Given the description of an element on the screen output the (x, y) to click on. 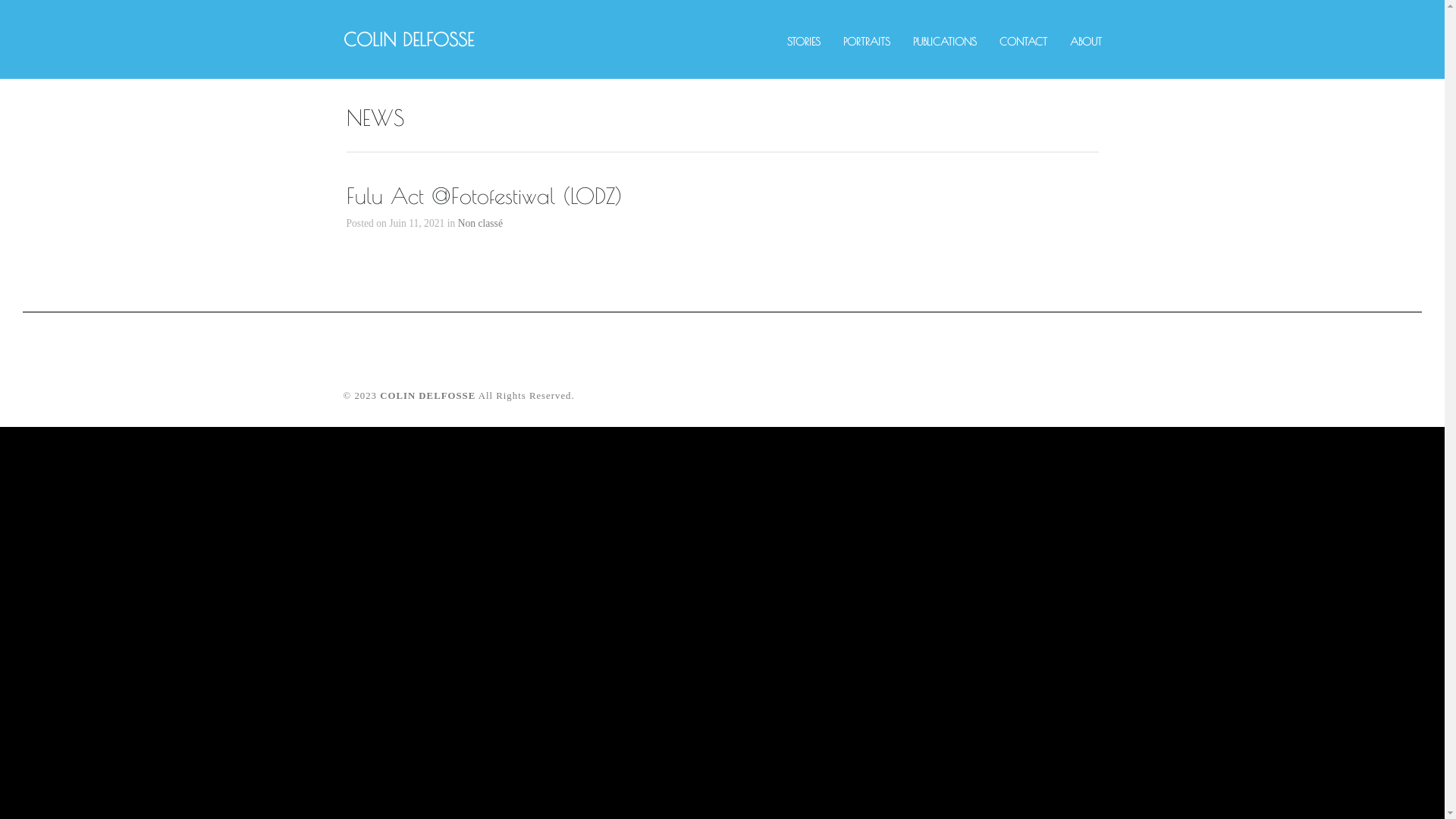
ABOUT Element type: text (1085, 40)
PUBLICATIONS Element type: text (944, 40)
CONTACT Element type: text (1023, 40)
PORTRAITS Element type: text (866, 40)
STORIES Element type: text (803, 40)
COLIN DELFOSSE Element type: text (407, 39)
Fulu Act @Fotofestiwal (LODZ) Element type: text (483, 195)
COLIN DELFOSSE Element type: text (427, 395)
